Given the description of an element on the screen output the (x, y) to click on. 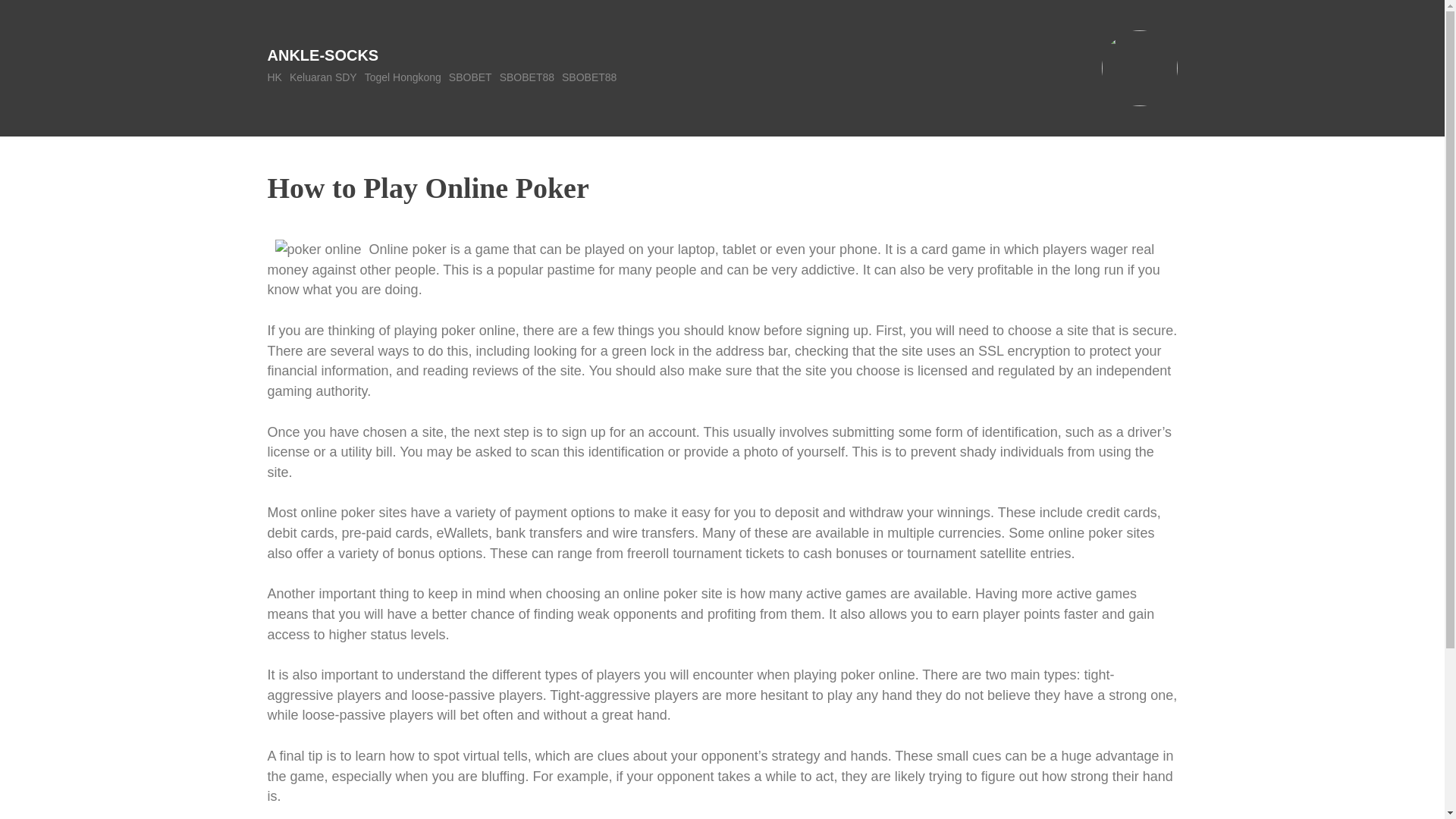
HK (273, 77)
SBOBET88 (526, 77)
SBOBET (470, 77)
Togel Hongkong (403, 77)
ankle-socks (322, 54)
ANKLE-SOCKS (322, 54)
SBOBET88 (588, 77)
Keluaran SDY (322, 77)
